Given the description of an element on the screen output the (x, y) to click on. 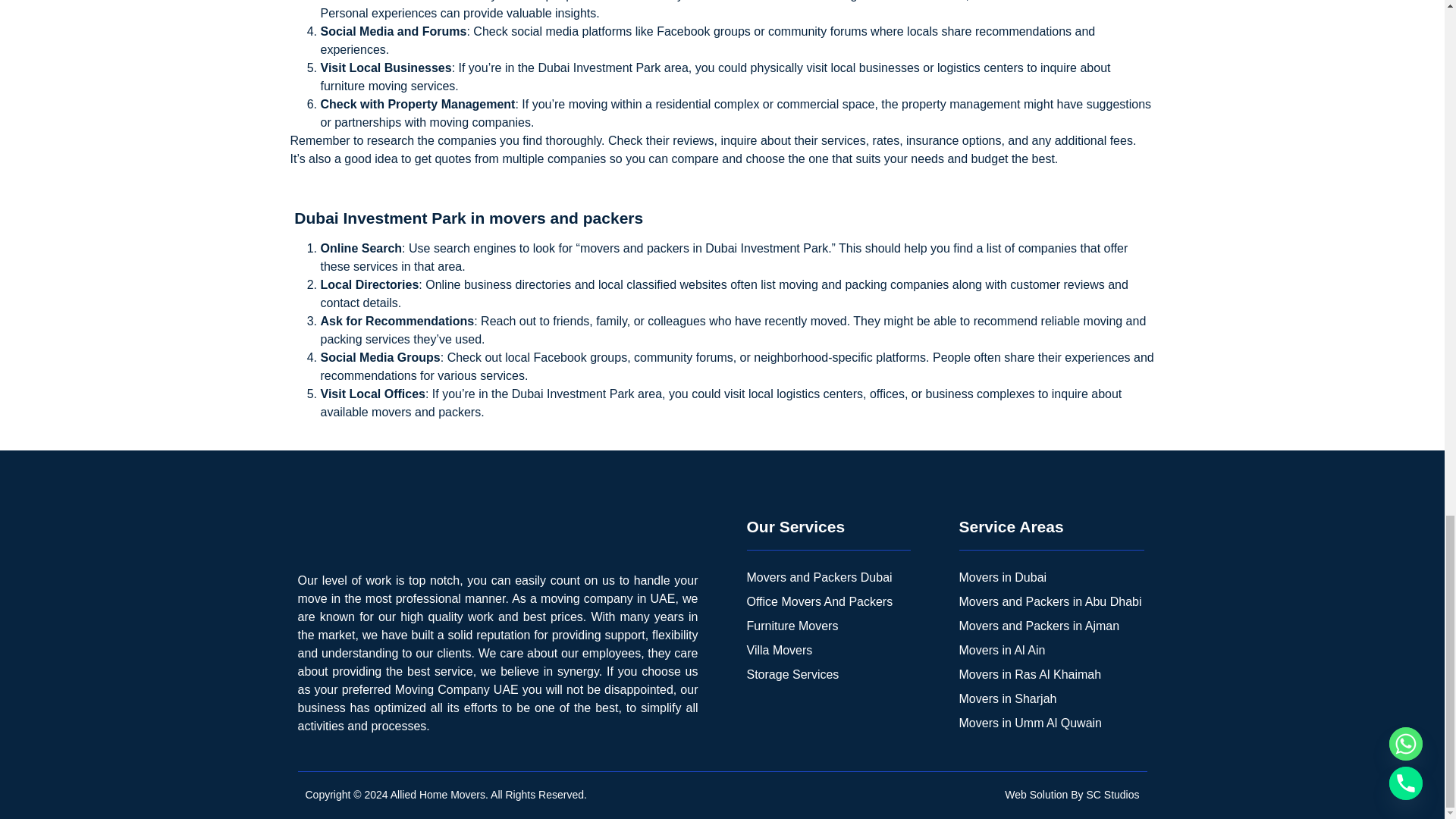
Office Movers And Packers (827, 601)
Movers and Packers Dubai (827, 577)
